Given the description of an element on the screen output the (x, y) to click on. 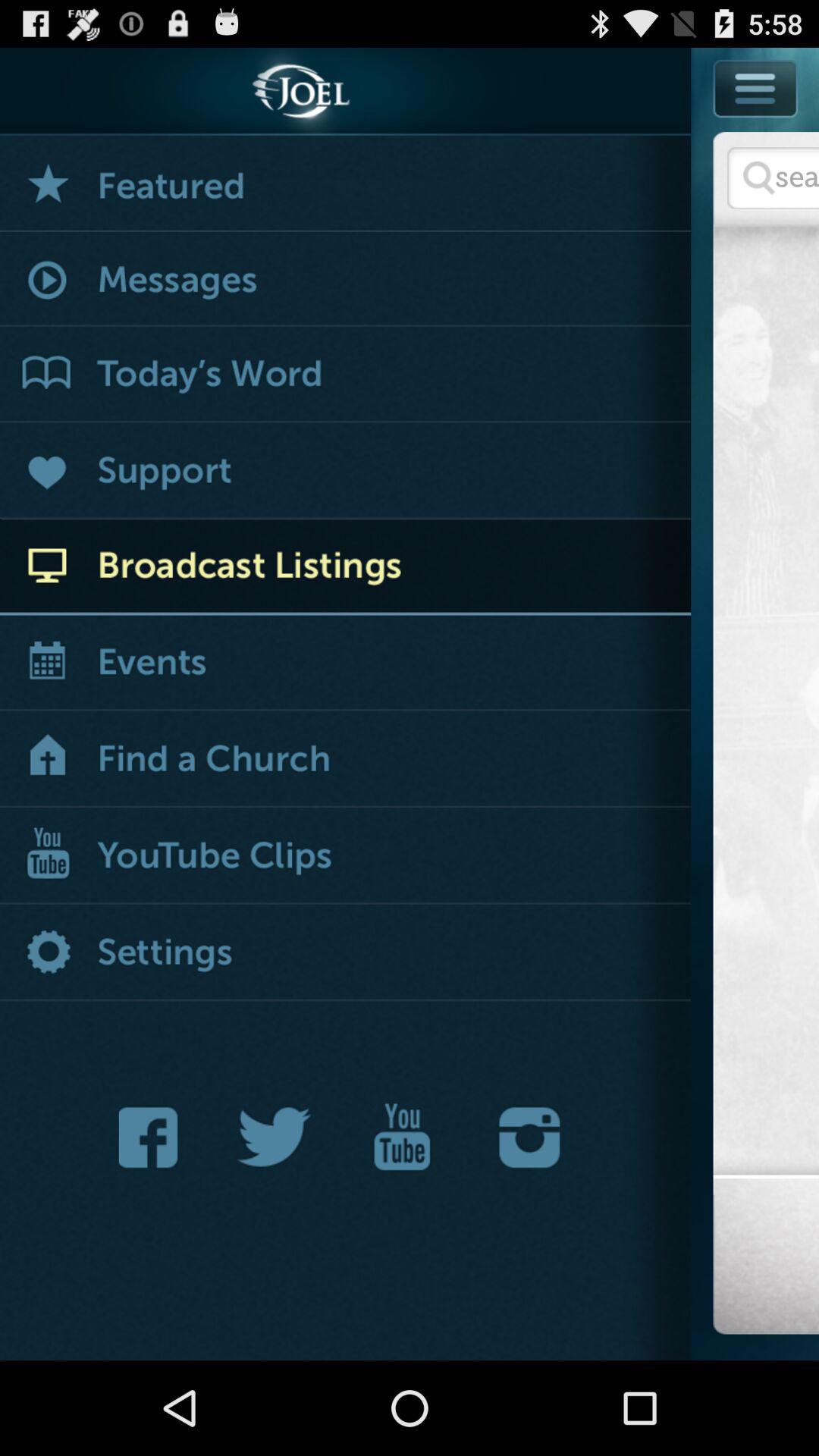
show featured (345, 183)
